Given the description of an element on the screen output the (x, y) to click on. 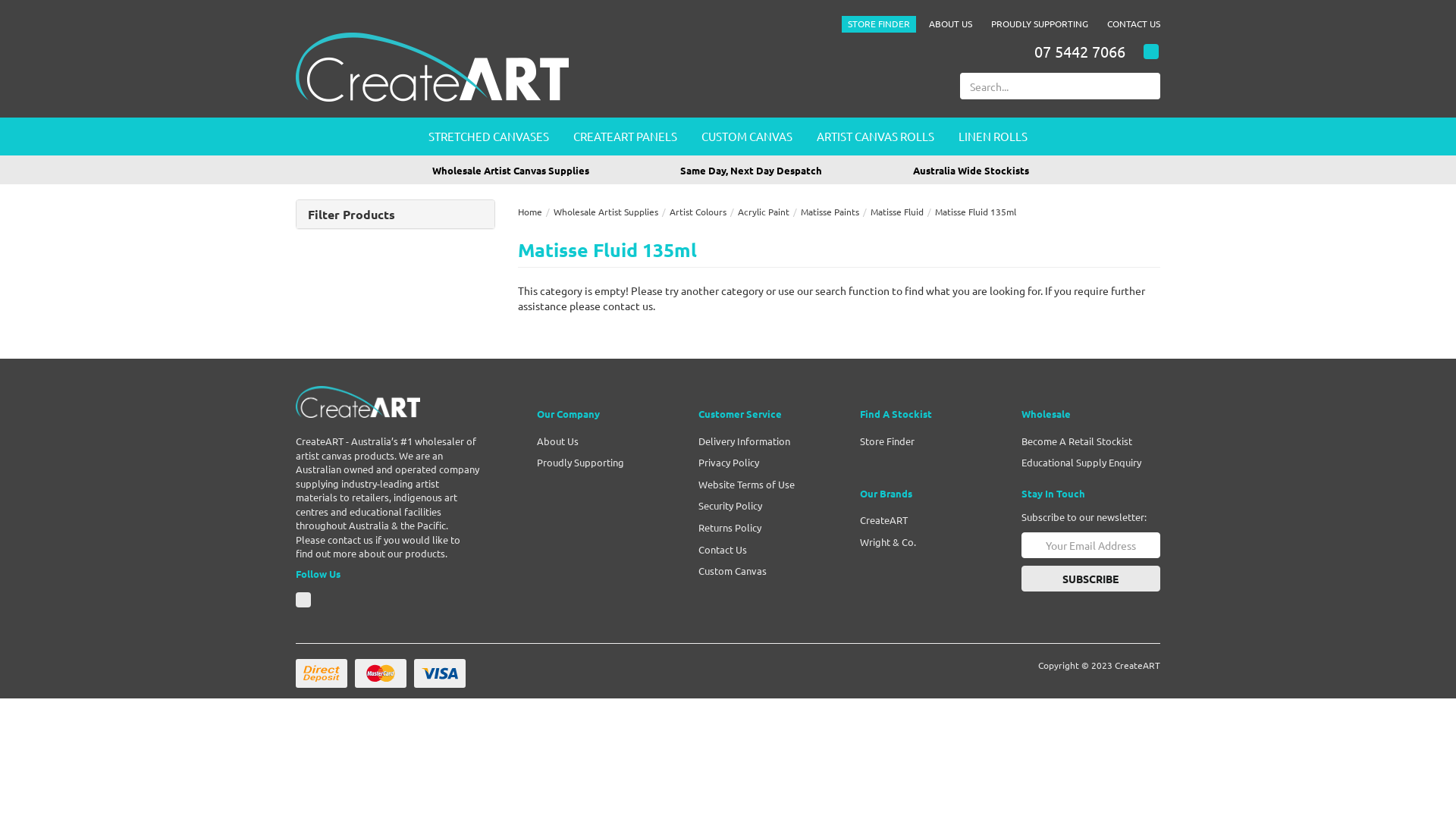
Delivery Information Element type: text (762, 441)
Custom Canvas Element type: text (762, 571)
Matisse Paints Element type: text (829, 211)
Acrylic Paint Element type: text (762, 211)
Matisse Fluid Element type: text (896, 211)
Home Element type: text (529, 211)
Wholesale Artist Supplies Element type: text (605, 211)
Contact Us Element type: text (762, 549)
CREATEART PANELS Element type: text (625, 136)
Matisse Fluid 135ml Element type: text (974, 211)
CONTACT US Element type: text (1130, 23)
Website Terms of Use Element type: text (762, 484)
07 5442 7066 Element type: text (1079, 51)
Returns Policy Element type: text (762, 527)
Store Finder Element type: text (923, 441)
Subscribe Element type: text (1090, 578)
CreateART Element type: hover (357, 400)
Become A Retail Stockist Element type: text (1085, 441)
STRETCHED CANVASES Element type: text (488, 136)
ABOUT US Element type: text (950, 23)
ARTIST CANVAS ROLLS Element type: text (875, 136)
Educational Supply Enquiry Element type: text (1085, 462)
Proudly Supporting Element type: text (599, 462)
PROUDLY SUPPORTING Element type: text (1039, 23)
CreateART Element type: hover (431, 65)
LINEN ROLLS Element type: text (992, 136)
CUSTOM CANVAS Element type: text (746, 136)
About Us Element type: text (599, 441)
Security Policy Element type: text (762, 505)
Search Element type: text (1150, 85)
Privacy Policy Element type: text (762, 462)
CreateART Element type: text (923, 520)
Filter Products Element type: text (395, 214)
STORE FINDER Element type: text (878, 23)
Artist Colours Element type: text (696, 211)
Wright & Co. Element type: text (923, 542)
